Given the description of an element on the screen output the (x, y) to click on. 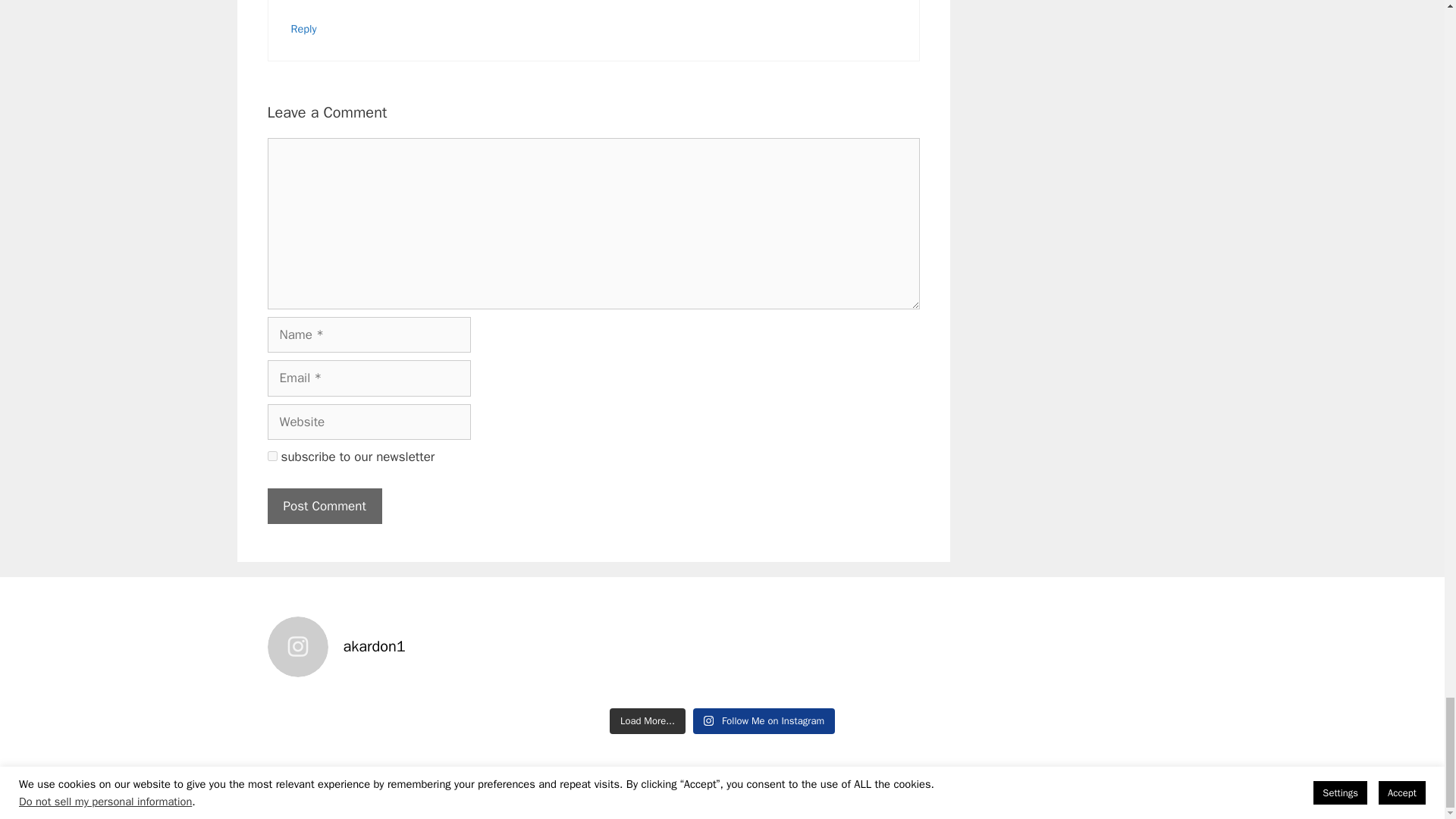
Post Comment (323, 506)
1 (271, 456)
